Given the description of an element on the screen output the (x, y) to click on. 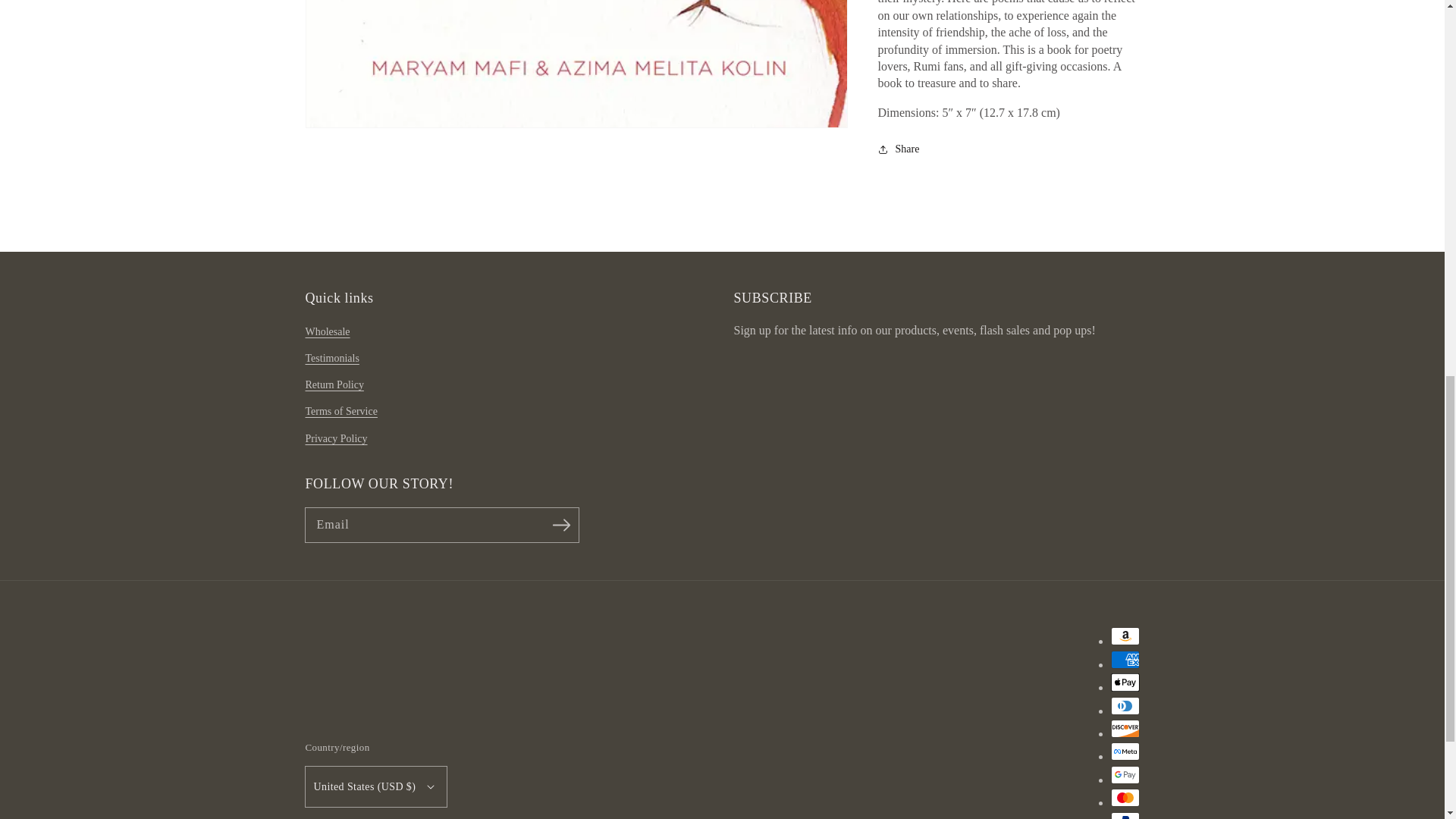
Amazon (1123, 636)
Mastercard (1123, 797)
American Express (1123, 659)
Discover (1123, 728)
Apple Pay (1123, 682)
Diners Club (1123, 705)
Google Pay (1123, 774)
Meta Pay (1123, 751)
